Given the description of an element on the screen output the (x, y) to click on. 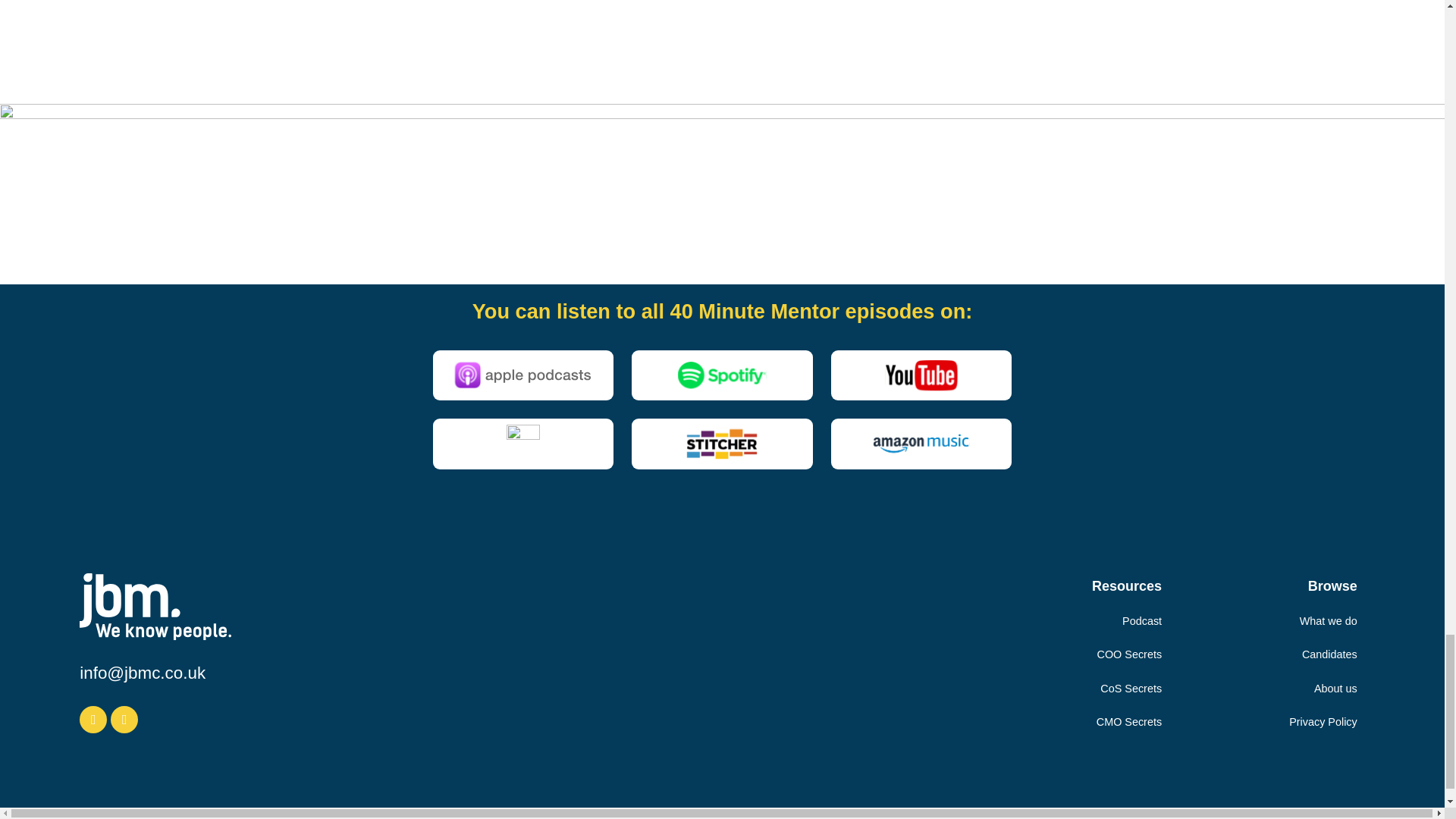
COO Secrets (1129, 654)
CMO Secrets (1128, 721)
Podcast (1141, 621)
CoS Secrets (1130, 688)
What we do (1328, 621)
